Given the description of an element on the screen output the (x, y) to click on. 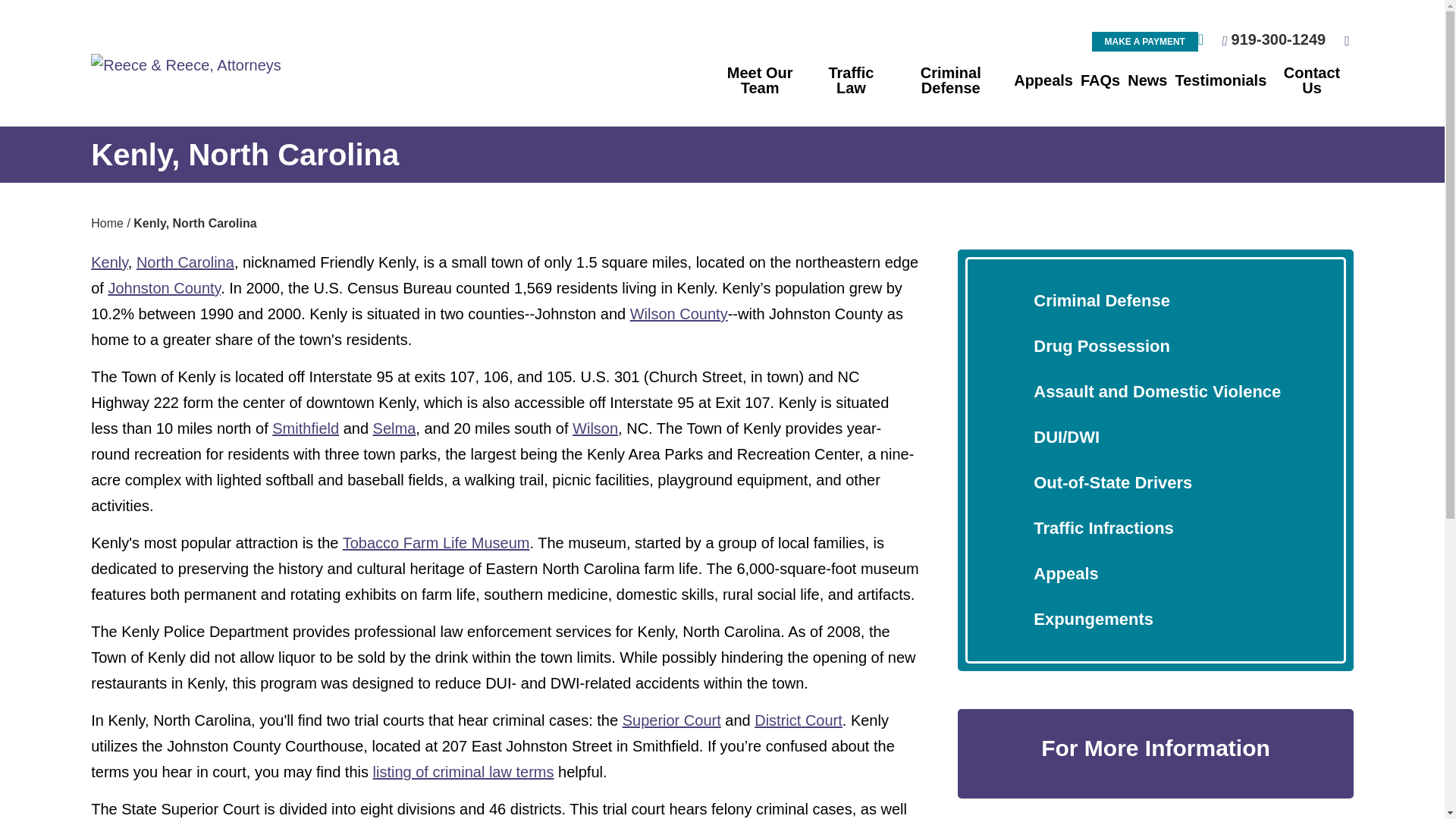
Read more about Criminal Defense (1101, 300)
Read more about Drug Possession (1101, 345)
Read more about Assault and Domestic Violence (1157, 391)
919-300-1249 (1278, 39)
Read more about Expungements (1093, 618)
Read more about Out-of-State Drivers (1112, 482)
Meet Our Team (759, 80)
MAKE A PAYMENT (1145, 41)
Read more about Appeals (1066, 573)
Read more about Traffic Infractions (1103, 527)
